Given the description of an element on the screen output the (x, y) to click on. 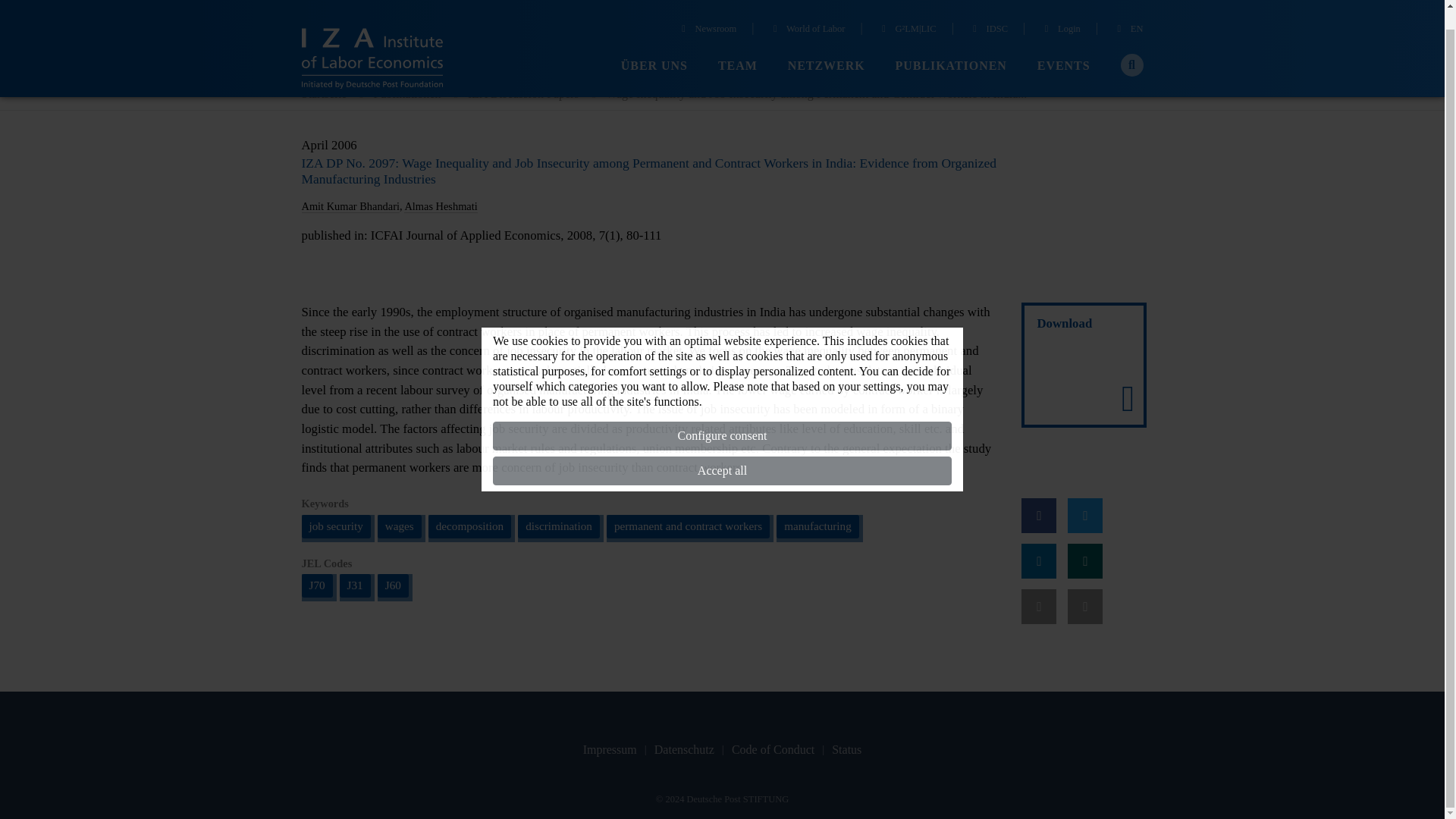
Login (1060, 11)
PUBLIKATIONEN (951, 46)
TEAM (737, 46)
NETZWERK (825, 46)
World of Labor (807, 11)
Newsroom (707, 11)
IDSC (988, 11)
EVENTS (1063, 46)
EN (1127, 11)
